Given the description of an element on the screen output the (x, y) to click on. 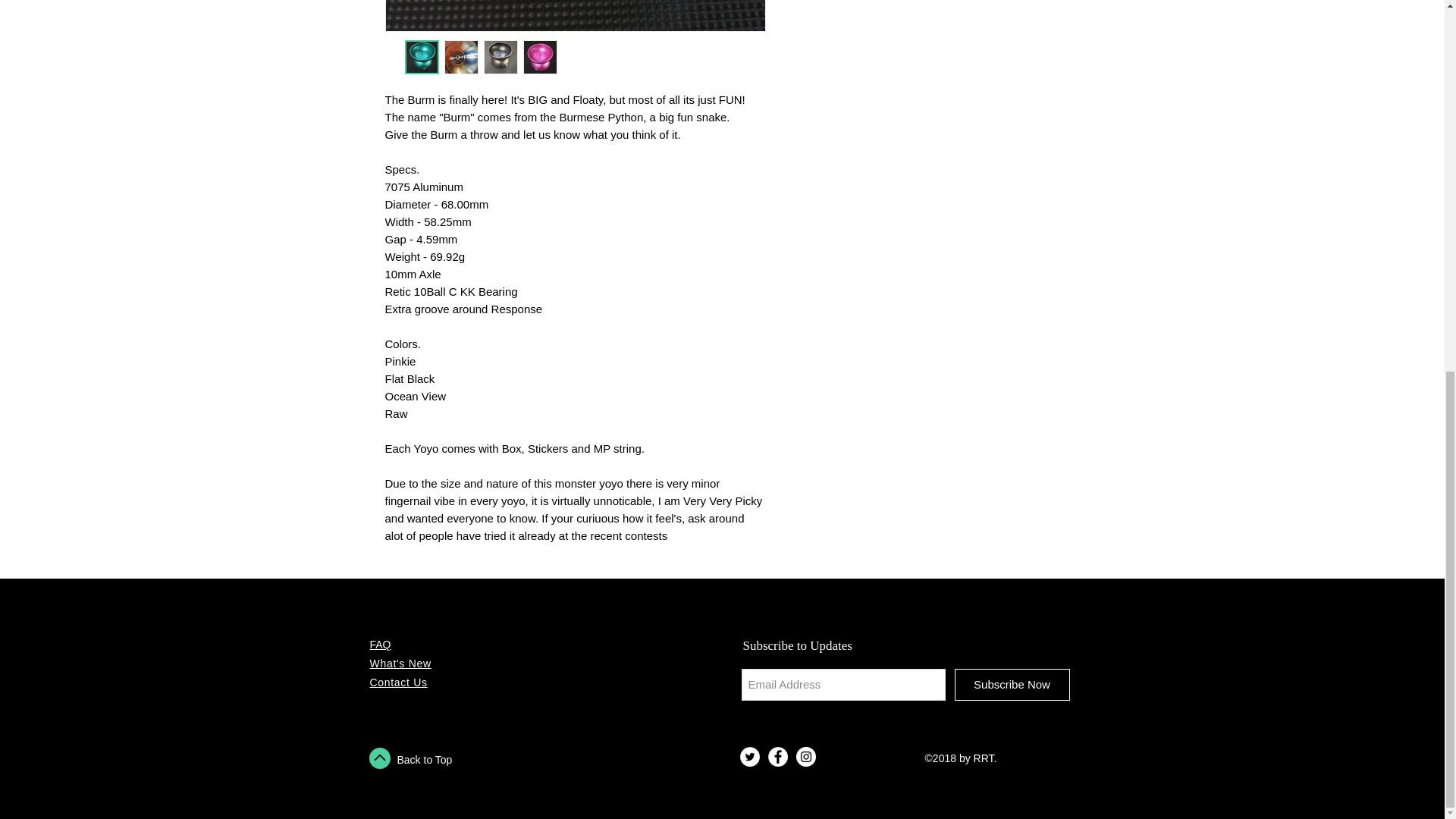
Subscribe Now (1010, 685)
Contact Us (398, 682)
What's New (399, 663)
FAQ (380, 644)
Back to Top (424, 759)
